Given the description of an element on the screen output the (x, y) to click on. 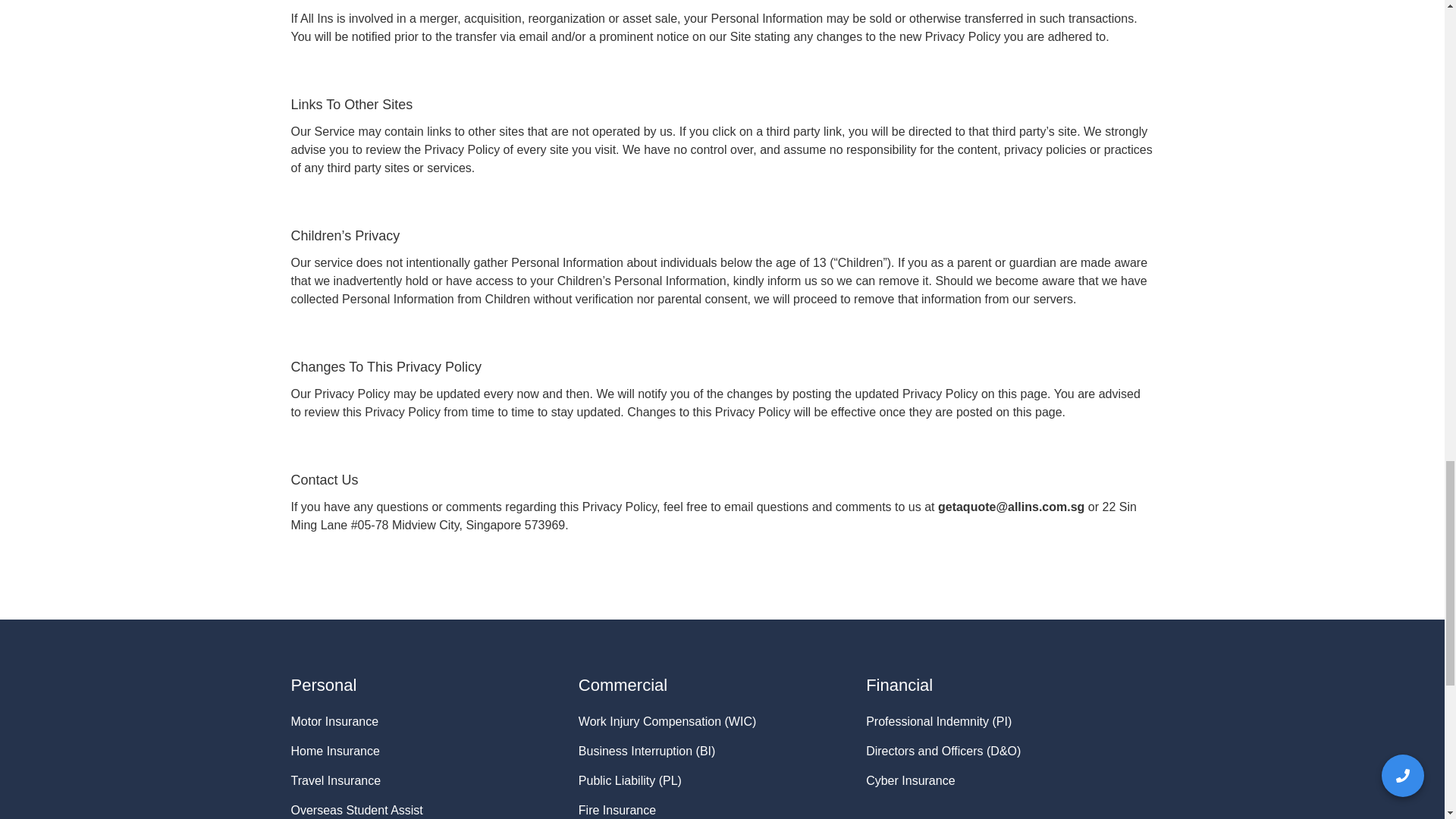
Travel Insurance (336, 786)
Personal (323, 684)
Overseas Student Assist (357, 810)
Home Insurance (335, 757)
Motor Insurance (334, 727)
